Given the description of an element on the screen output the (x, y) to click on. 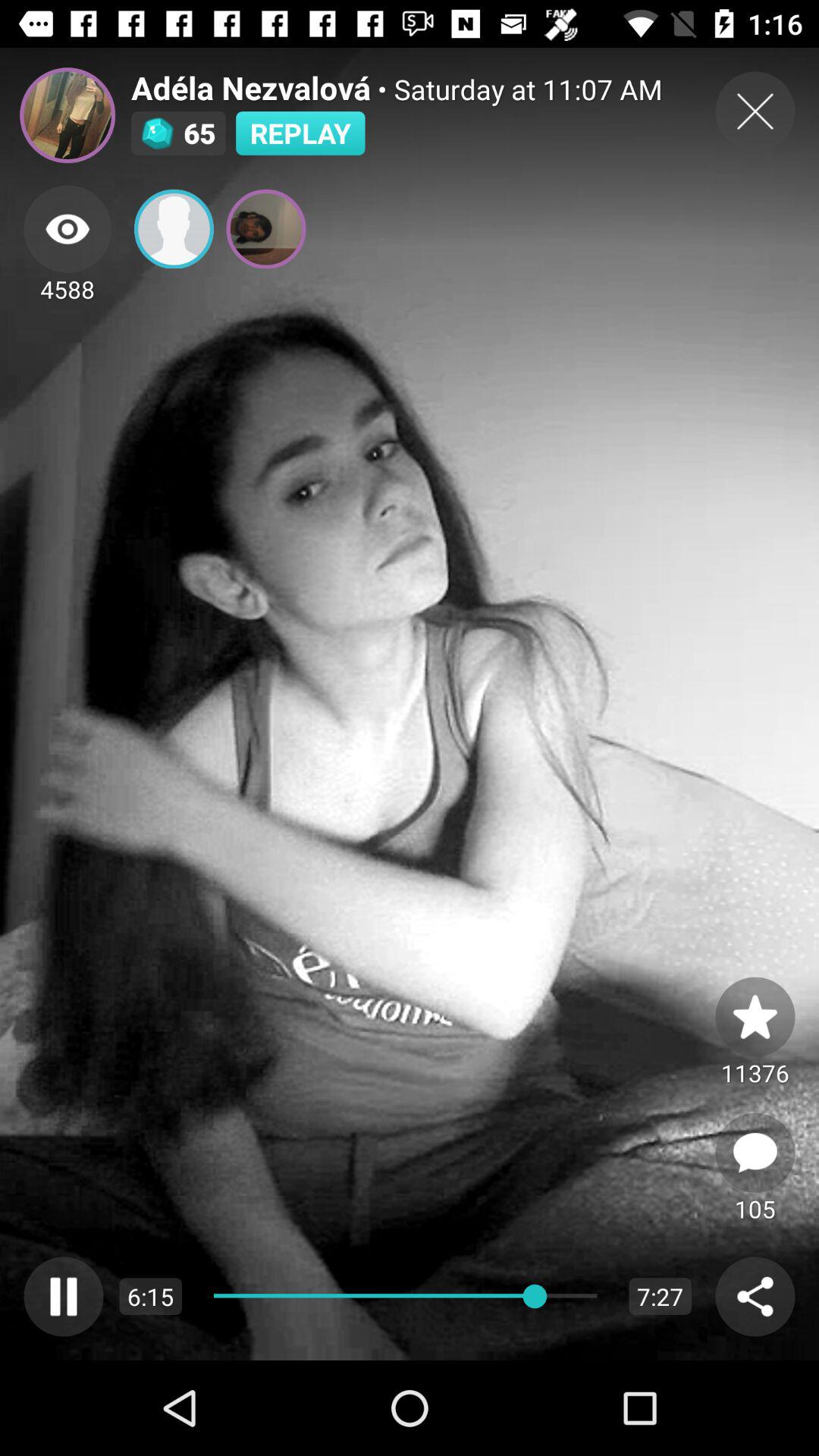
pause video option (63, 1296)
